Given the description of an element on the screen output the (x, y) to click on. 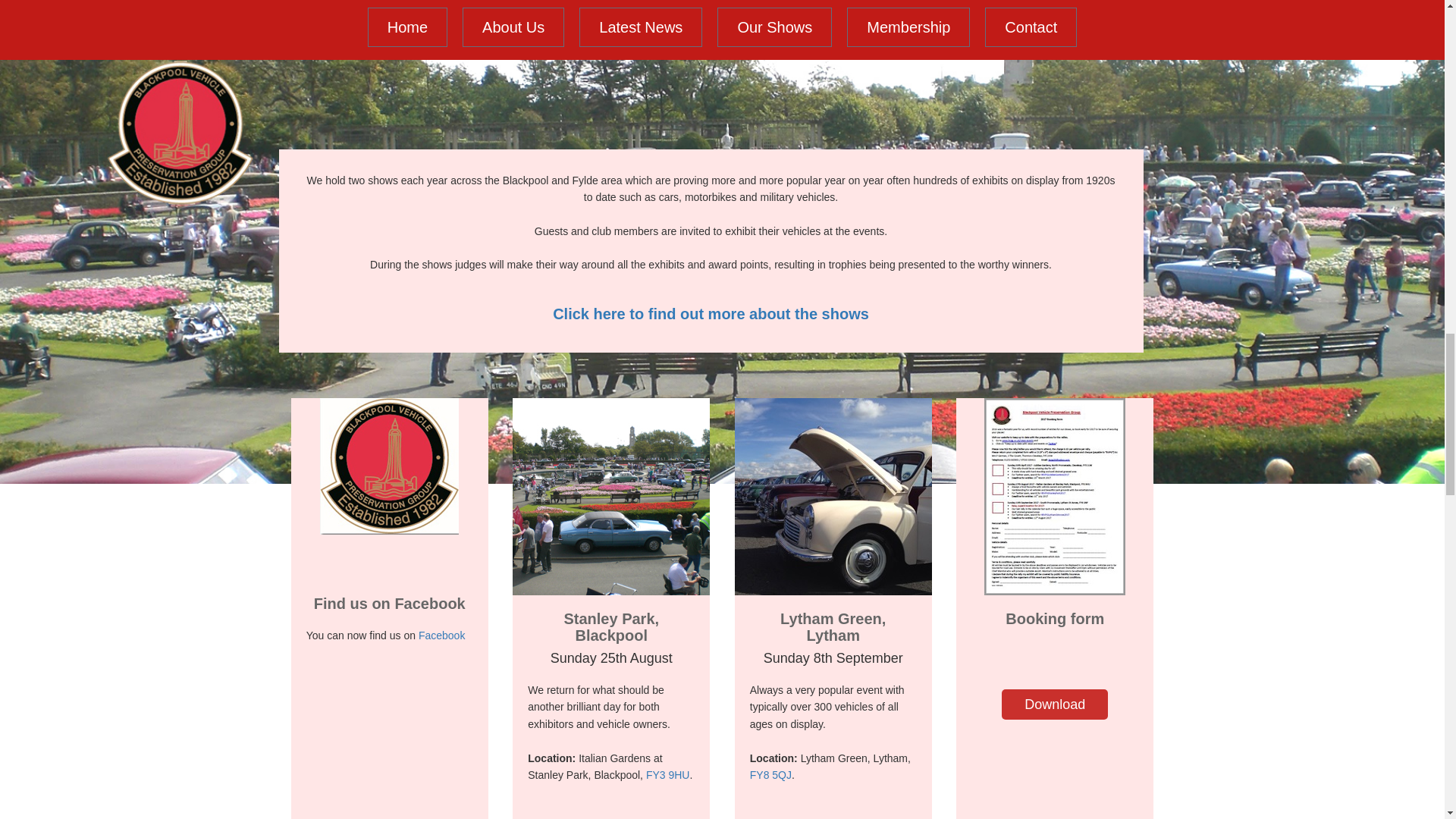
Click here to find out more about the shows (711, 313)
Facebook (441, 635)
Download (1054, 704)
FY8 5QJ (770, 775)
FY3 9HU (668, 775)
